Given the description of an element on the screen output the (x, y) to click on. 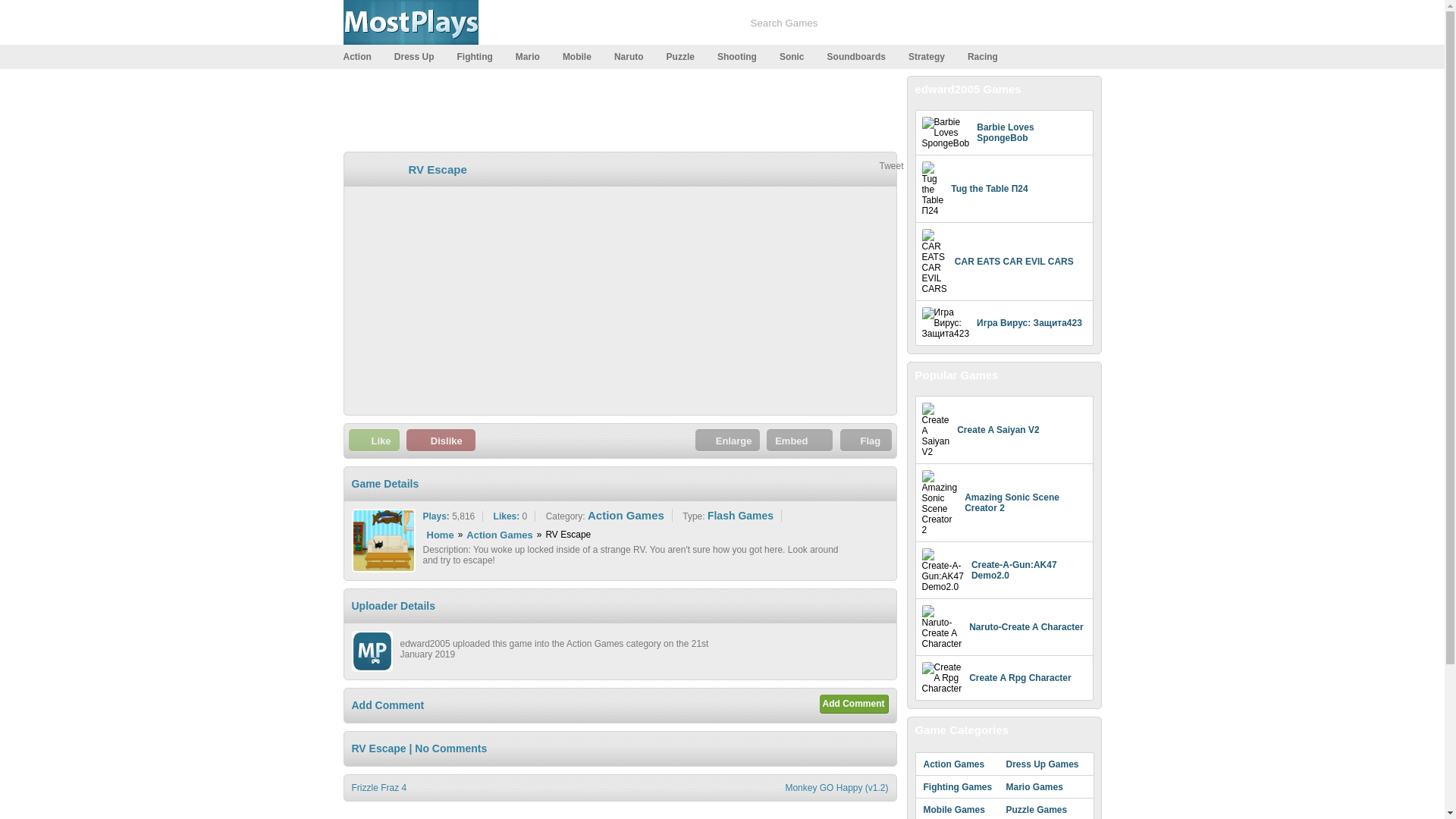
Action (361, 56)
Mobile (582, 56)
Shooting (742, 56)
Mario (533, 56)
Like (373, 440)
Dress Up (419, 56)
Sign In (1028, 23)
Sign Up (970, 23)
Strategy (932, 56)
Enlarge (727, 440)
Embed (799, 440)
RV Escape (436, 169)
Tweet (890, 165)
Puzzle (686, 56)
Fighting (480, 56)
